Given the description of an element on the screen output the (x, y) to click on. 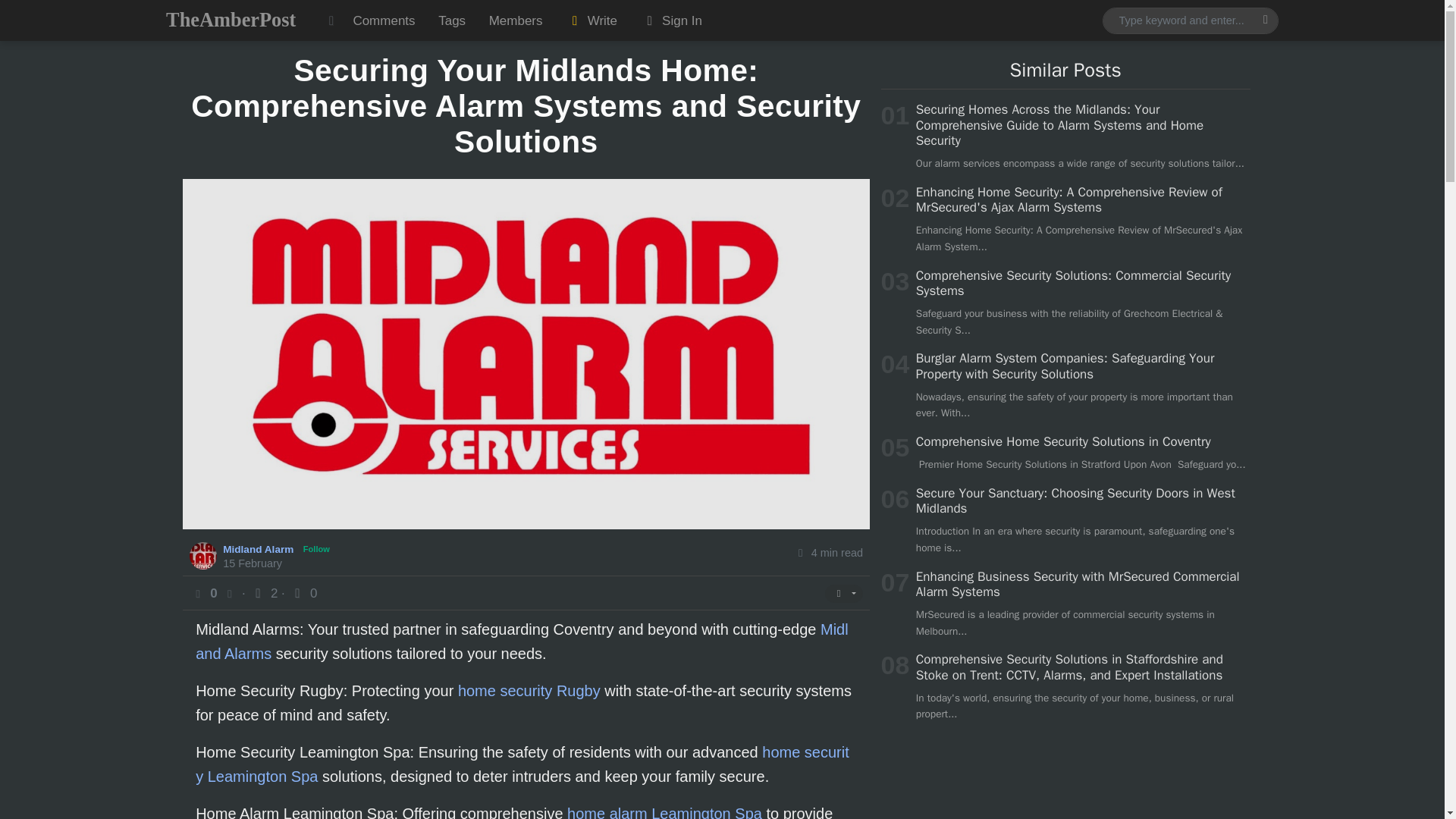
home alarm Leamington Spa (664, 812)
Midland Alarm (259, 548)
Members (515, 20)
Views (264, 592)
Toggle dark mode (330, 20)
Comments (383, 20)
Follow (316, 549)
Sign In (670, 20)
0 (302, 592)
home security Rugby (528, 690)
